Given the description of an element on the screen output the (x, y) to click on. 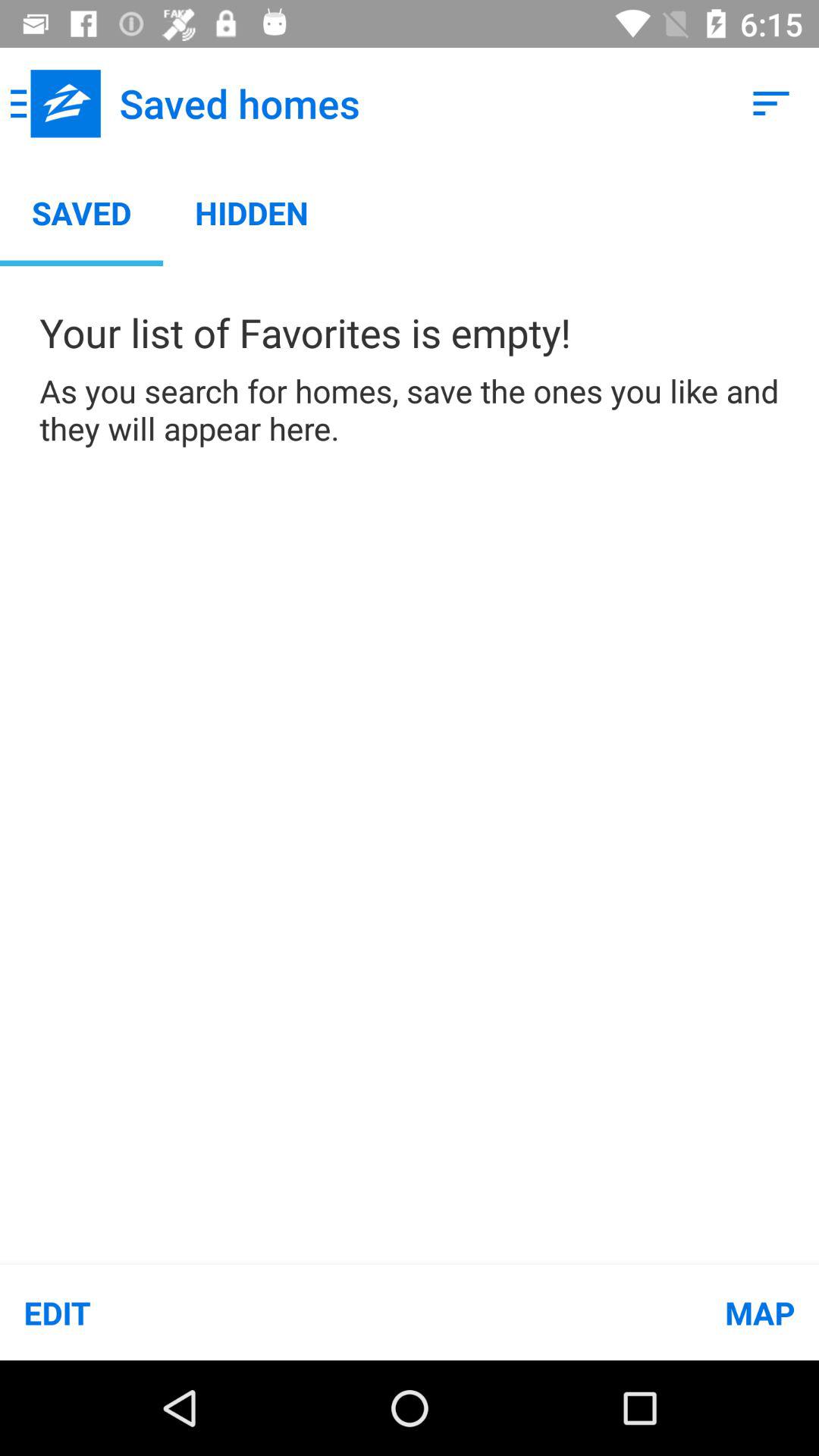
swipe to edit item (204, 1312)
